Given the description of an element on the screen output the (x, y) to click on. 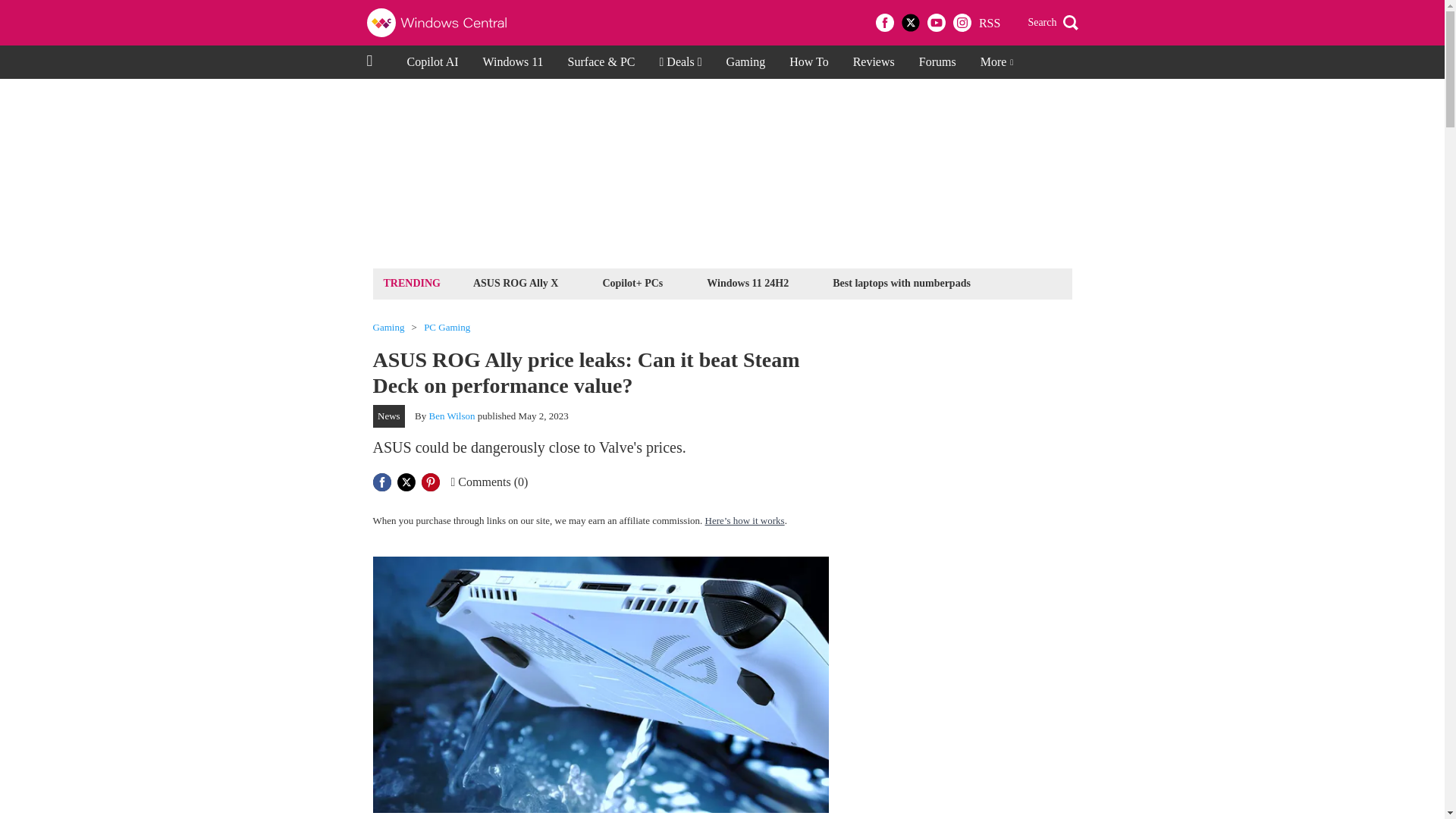
PC Gaming (446, 327)
Ben Wilson (452, 415)
Best laptops with numberpads (901, 282)
Gaming (388, 327)
News (389, 415)
Windows 11 (513, 61)
How To (808, 61)
Reviews (874, 61)
ASUS ROG Ally X (515, 282)
Windows 11 24H2 (747, 282)
Gaming (745, 61)
RSS (989, 22)
Forums (937, 61)
Copilot AI (432, 61)
